Given the description of an element on the screen output the (x, y) to click on. 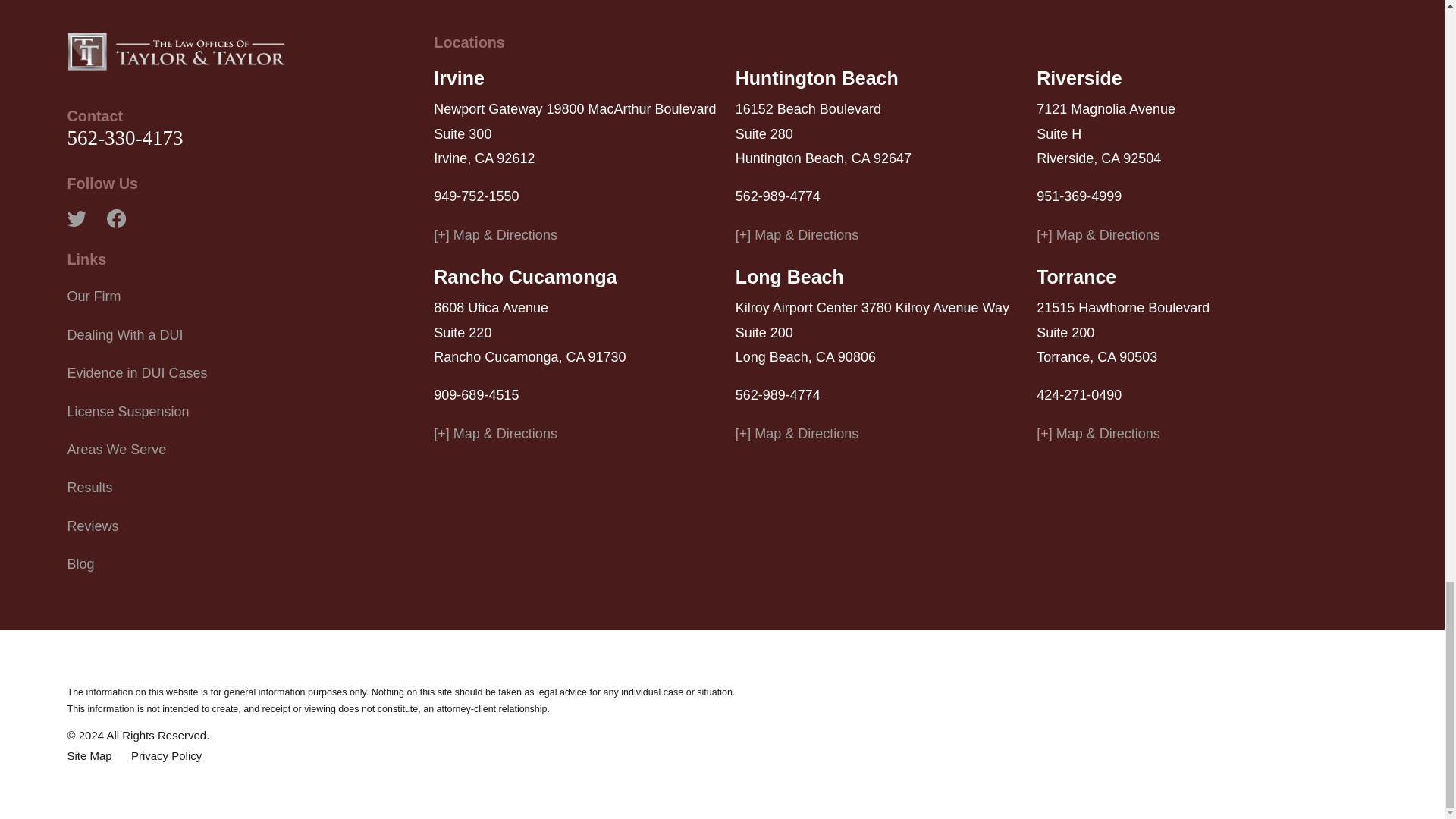
Twitter (75, 218)
Home (175, 50)
Facebook (115, 218)
